Given the description of an element on the screen output the (x, y) to click on. 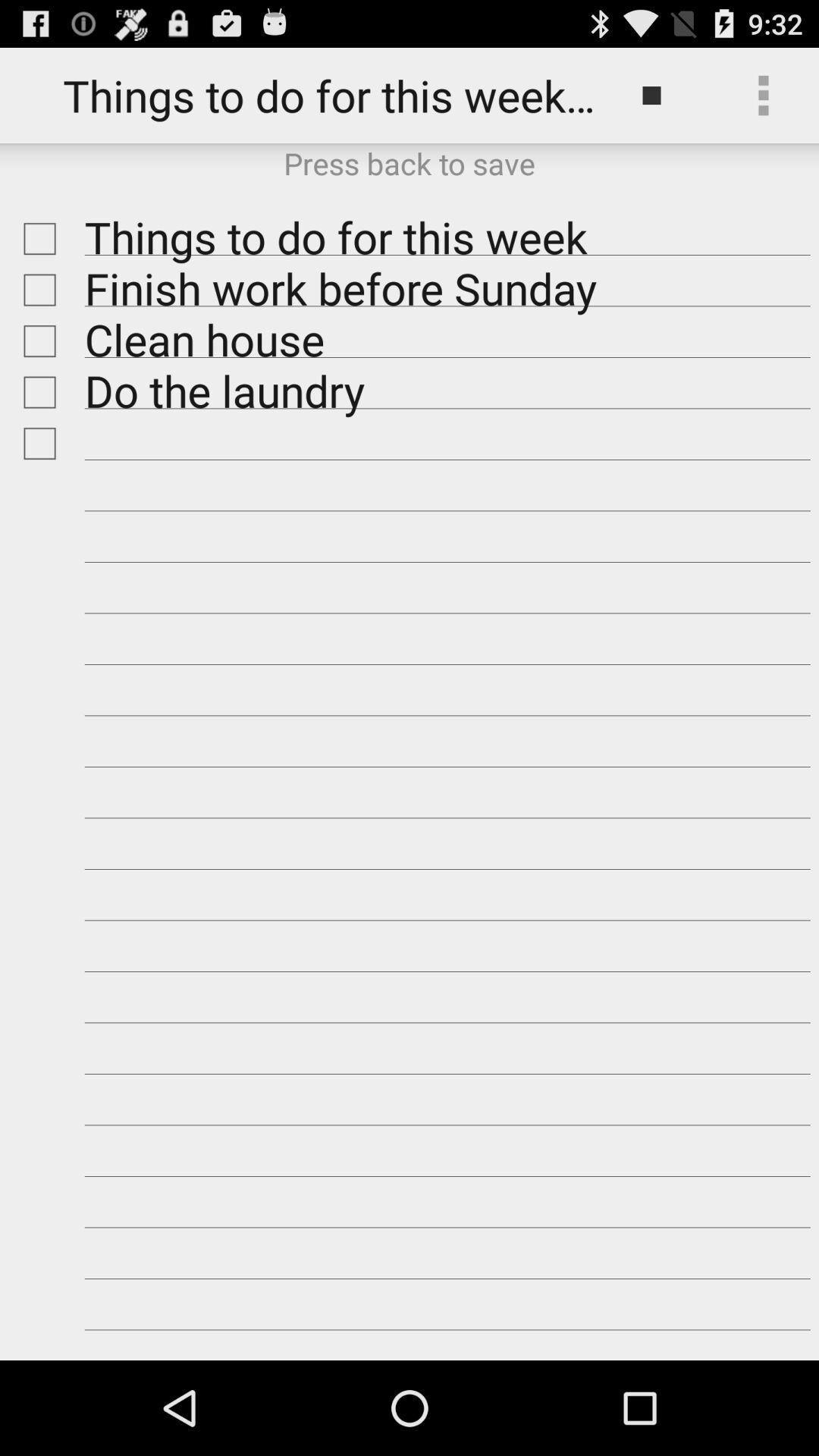
enter check box (35, 392)
